Given the description of an element on the screen output the (x, y) to click on. 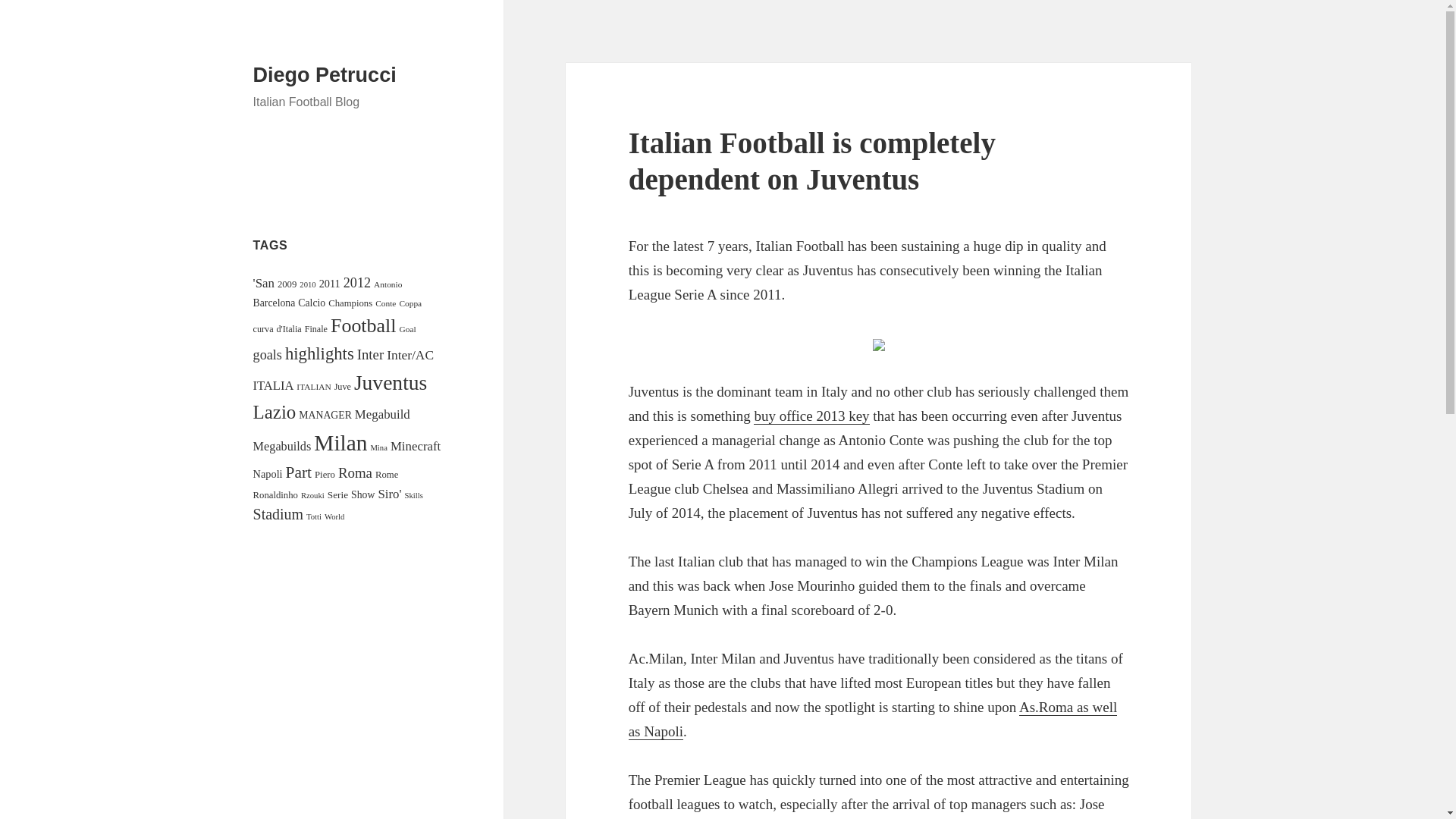
2009 (287, 284)
'San (264, 283)
Calcio (311, 302)
Piero (324, 474)
Champions (350, 303)
2012 (357, 282)
MANAGER (325, 414)
Coppa (410, 302)
Goal (406, 328)
Diego Petrucci (324, 74)
Antonio (387, 284)
Finale (315, 328)
Rome (386, 474)
Juve (342, 386)
Roma (354, 472)
